Given the description of an element on the screen output the (x, y) to click on. 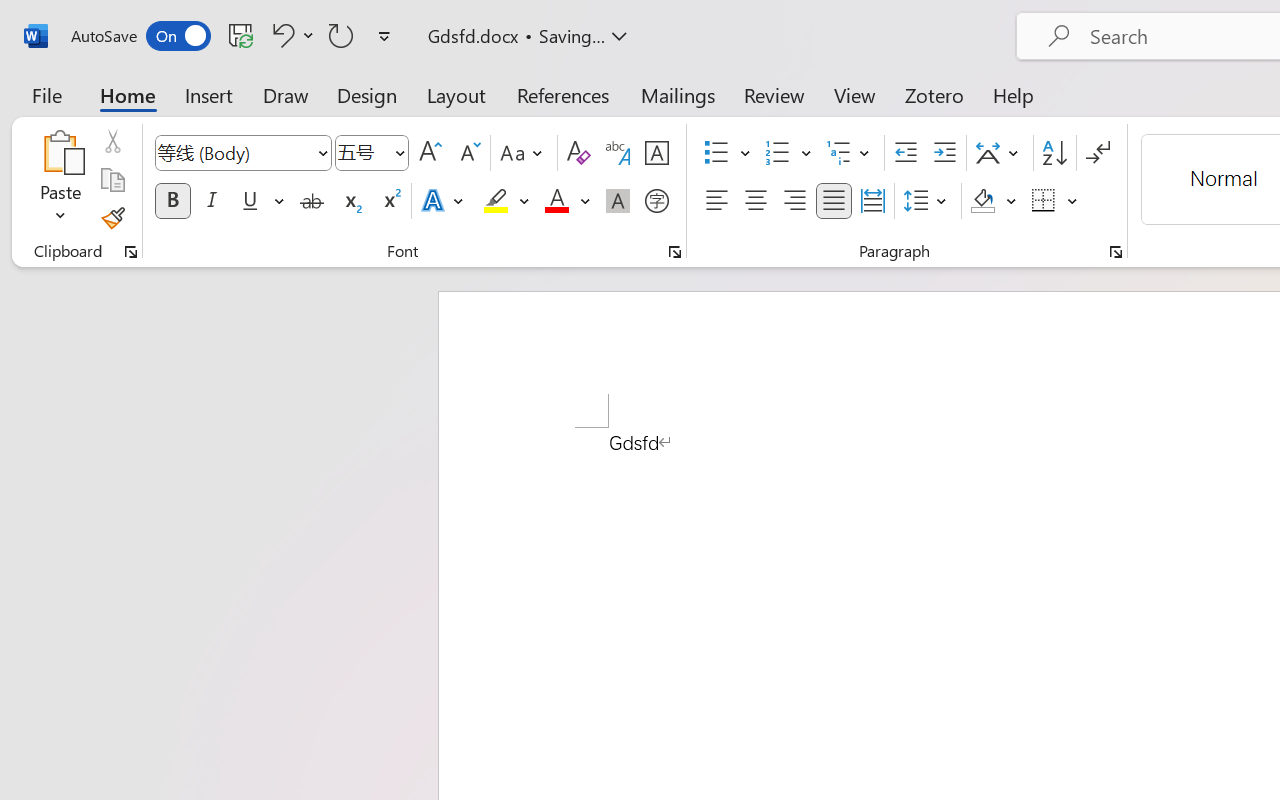
Center (756, 201)
Font Color Red (556, 201)
Format Painter (112, 218)
Grow Font (430, 153)
Enclose Characters... (656, 201)
Show/Hide Editing Marks (1098, 153)
Cut (112, 141)
Character Shading (618, 201)
